Given the description of an element on the screen output the (x, y) to click on. 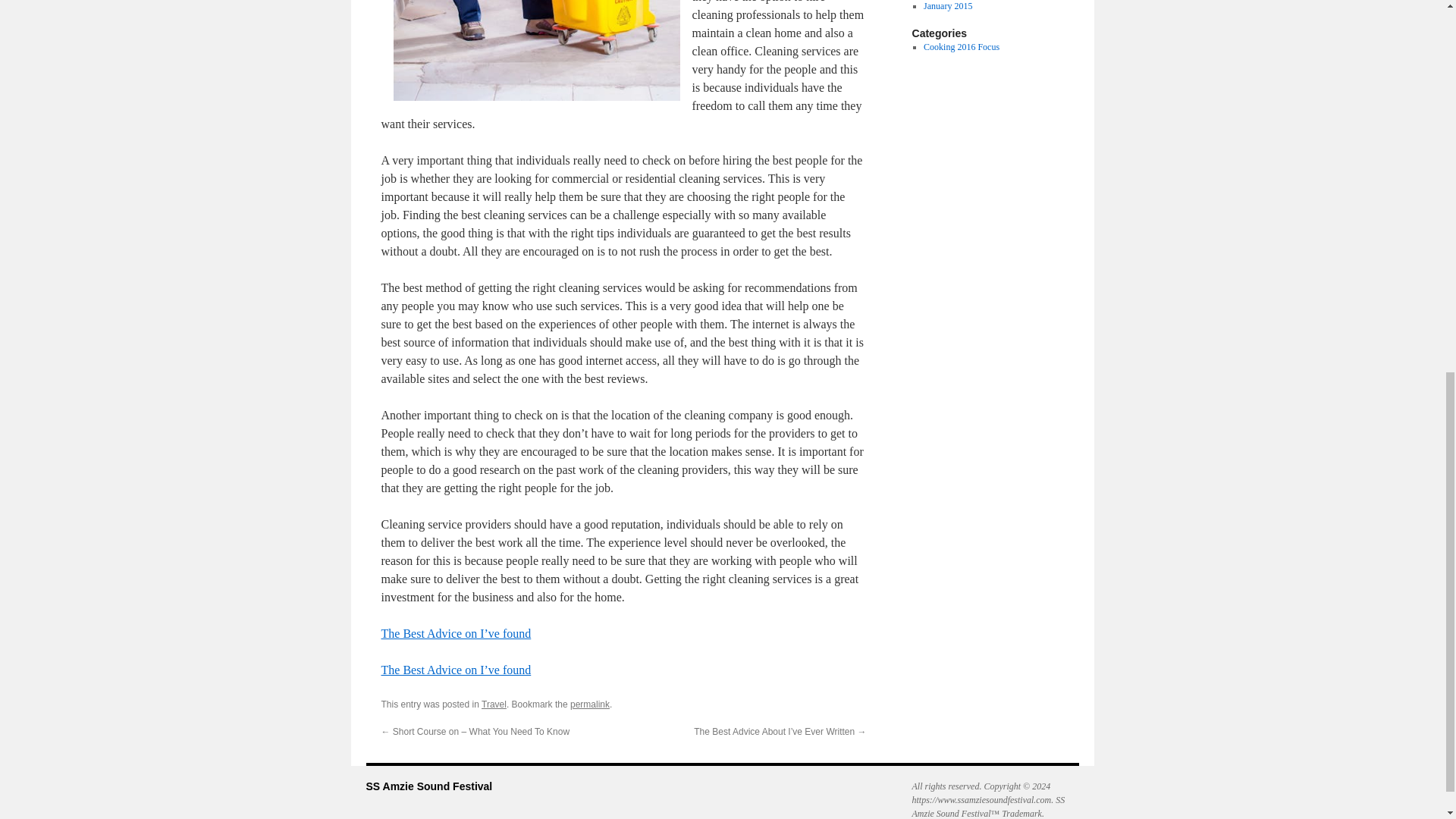
Cooking 2016 Focus (960, 46)
Permalink to 3  Tips from Someone With Experience (590, 704)
permalink (590, 704)
January 2015 (947, 5)
SS Amzie Sound Festival (428, 786)
Travel (493, 704)
